Given the description of an element on the screen output the (x, y) to click on. 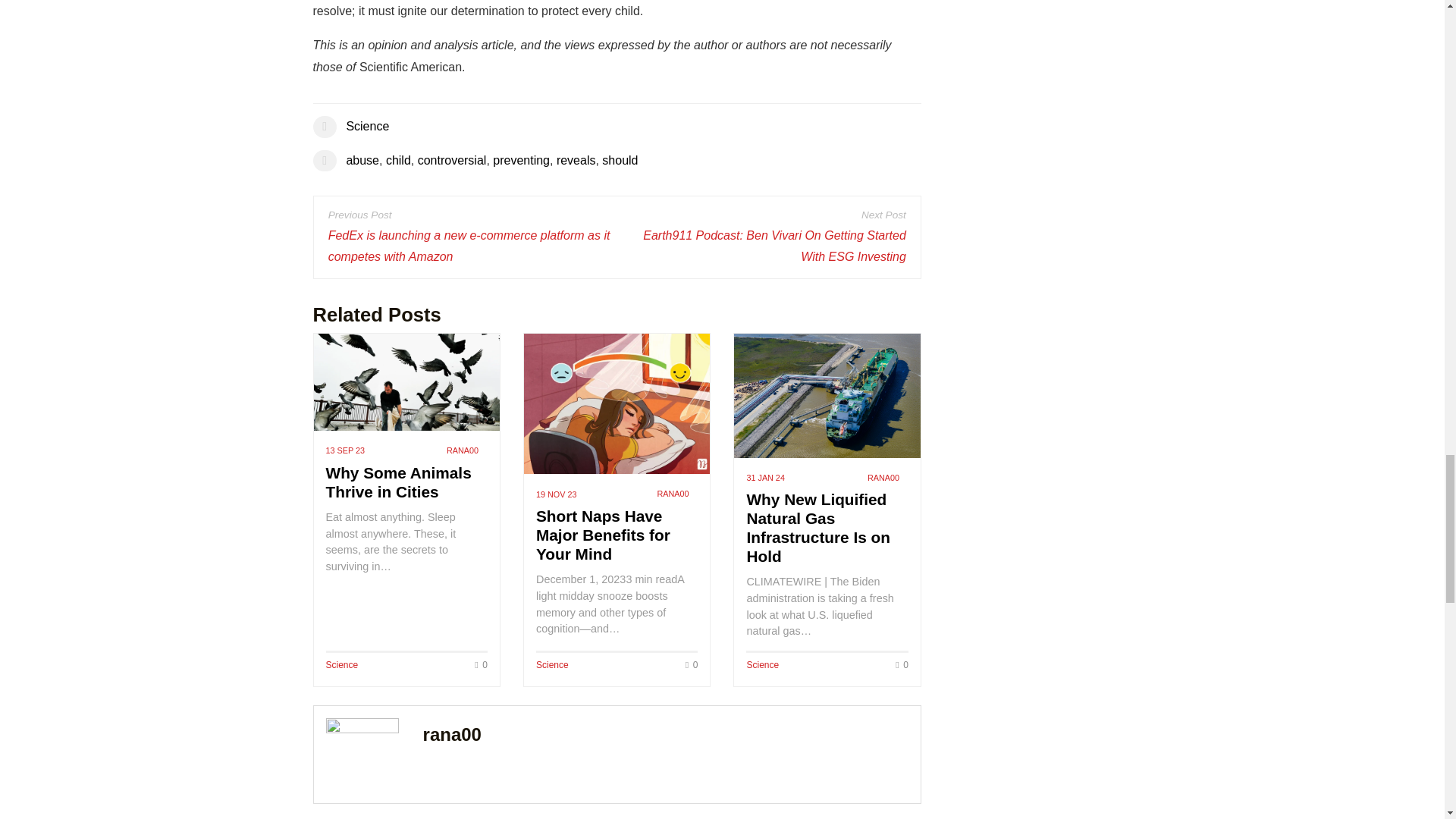
Science (552, 665)
preventing (521, 160)
should (619, 160)
abuse (362, 160)
Why New Liquified Natural Gas Infrastructure Is on Hold (817, 527)
Short Naps Have Major Benefits for Your Mind (602, 534)
RANA00 (672, 492)
Why Some Animals Thrive in Cities (406, 381)
Why Some Animals Thrive in Cities (398, 482)
Why New Liquified Natural Gas Infrastructure Is on Hold (826, 395)
child (397, 160)
31 JAN 24 (764, 477)
RANA00 (883, 477)
RANA00 (462, 450)
